Given the description of an element on the screen output the (x, y) to click on. 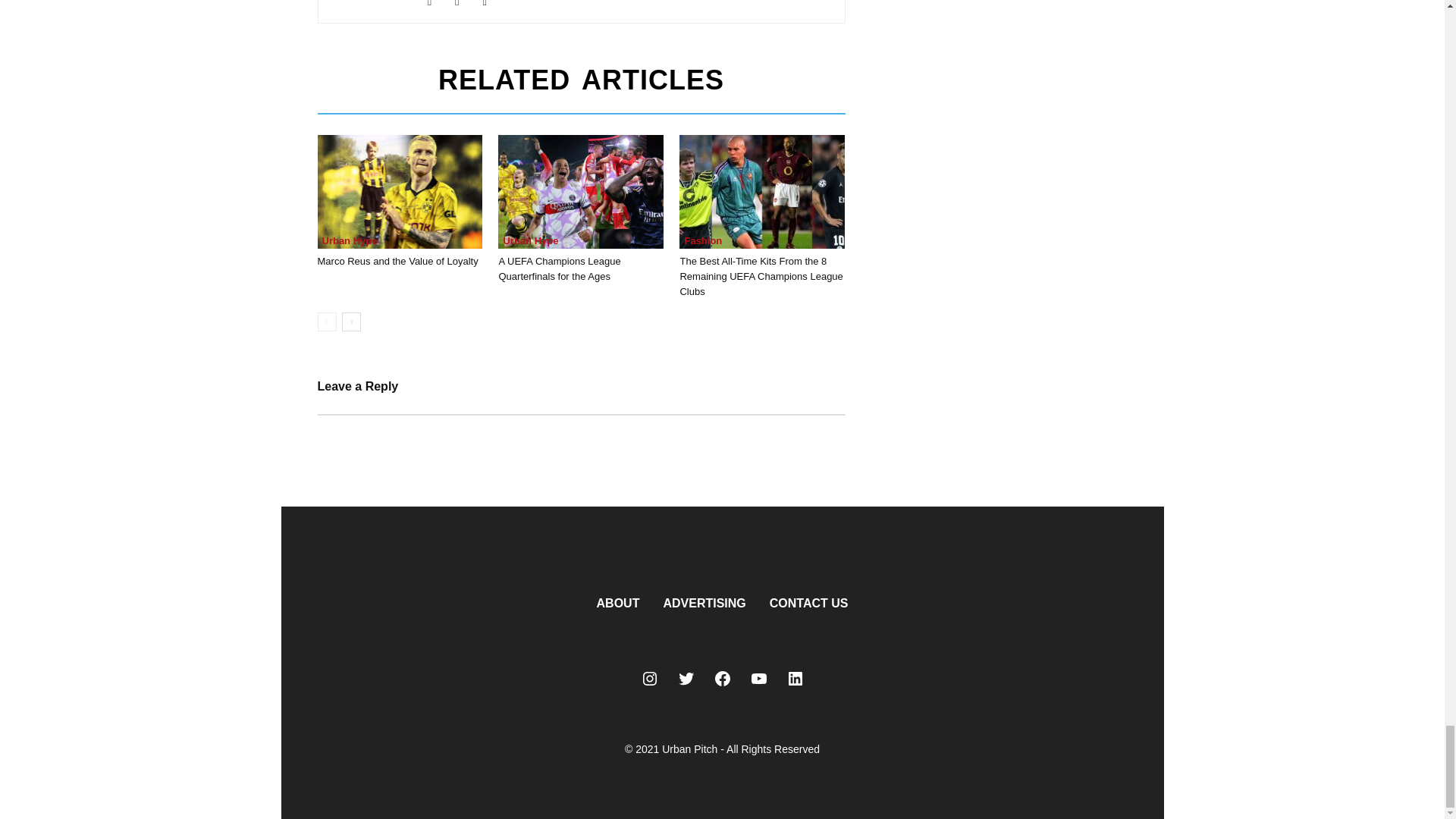
Marco Reus and the Value of Loyalty (399, 191)
Instagram (435, 5)
Linkedin (462, 5)
Twitter (489, 5)
